Given the description of an element on the screen output the (x, y) to click on. 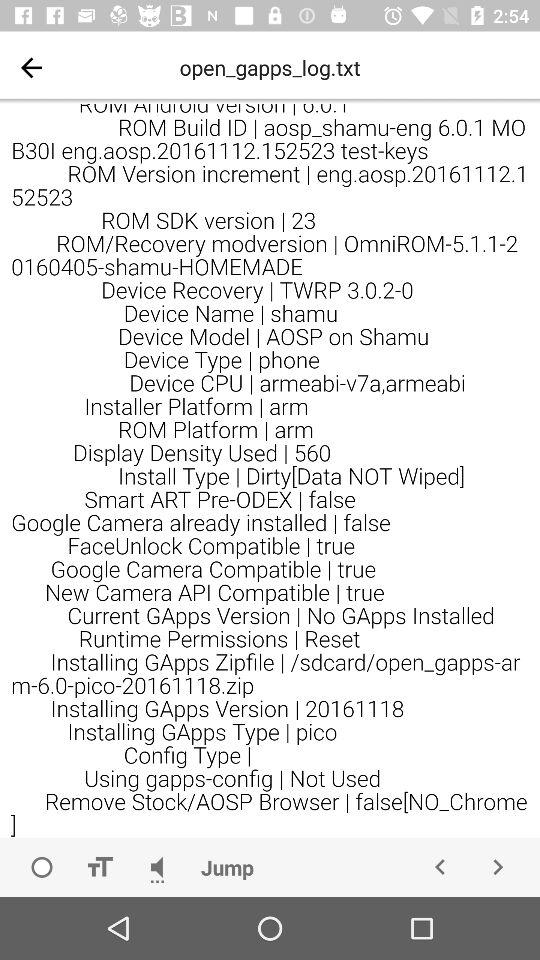
highlight text (99, 867)
